Given the description of an element on the screen output the (x, y) to click on. 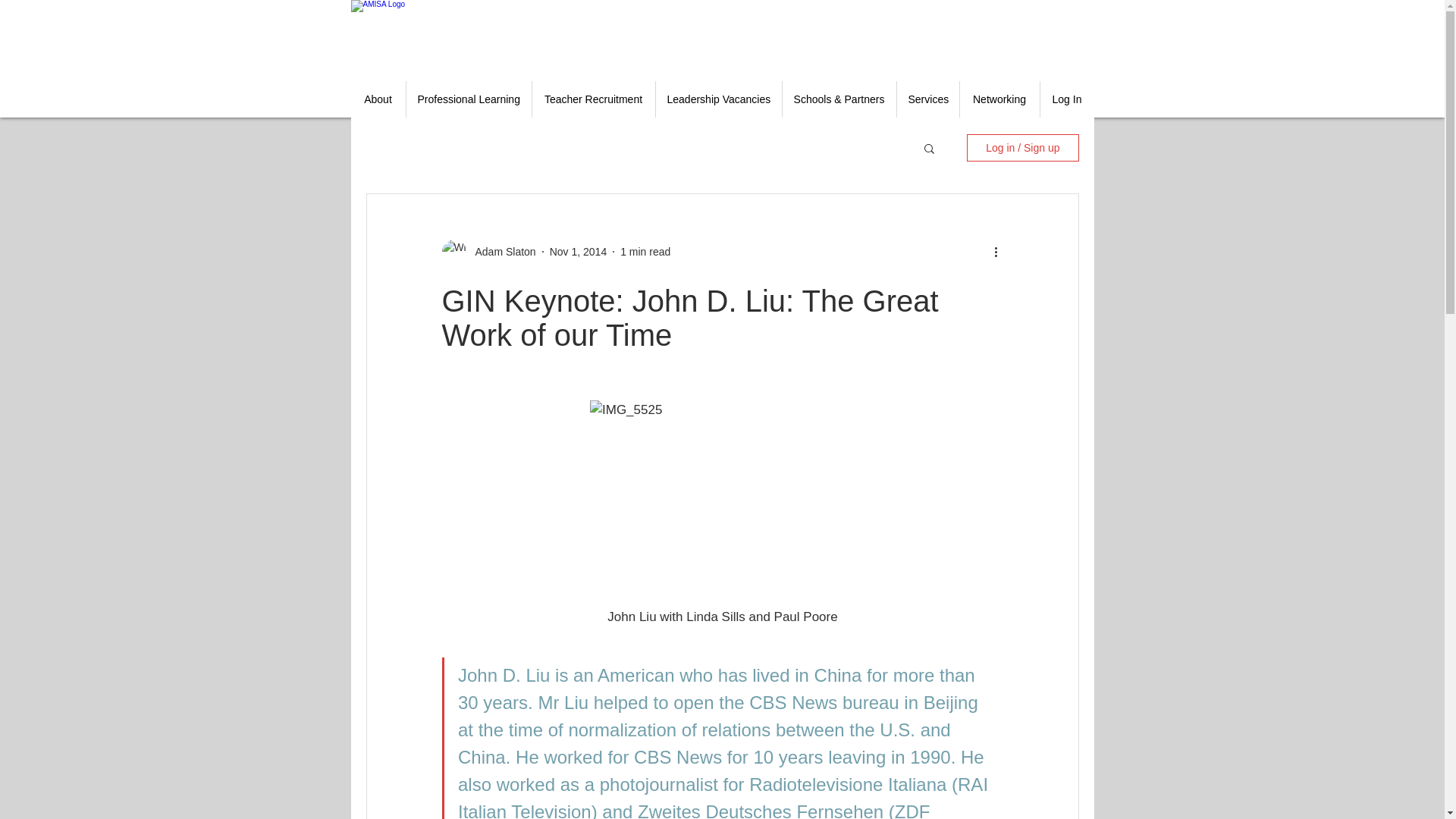
Adam Slaton (500, 252)
AMISA-logo-transparent.png (433, 35)
Nov 1, 2014 (578, 251)
1 min read (644, 251)
